Given the description of an element on the screen output the (x, y) to click on. 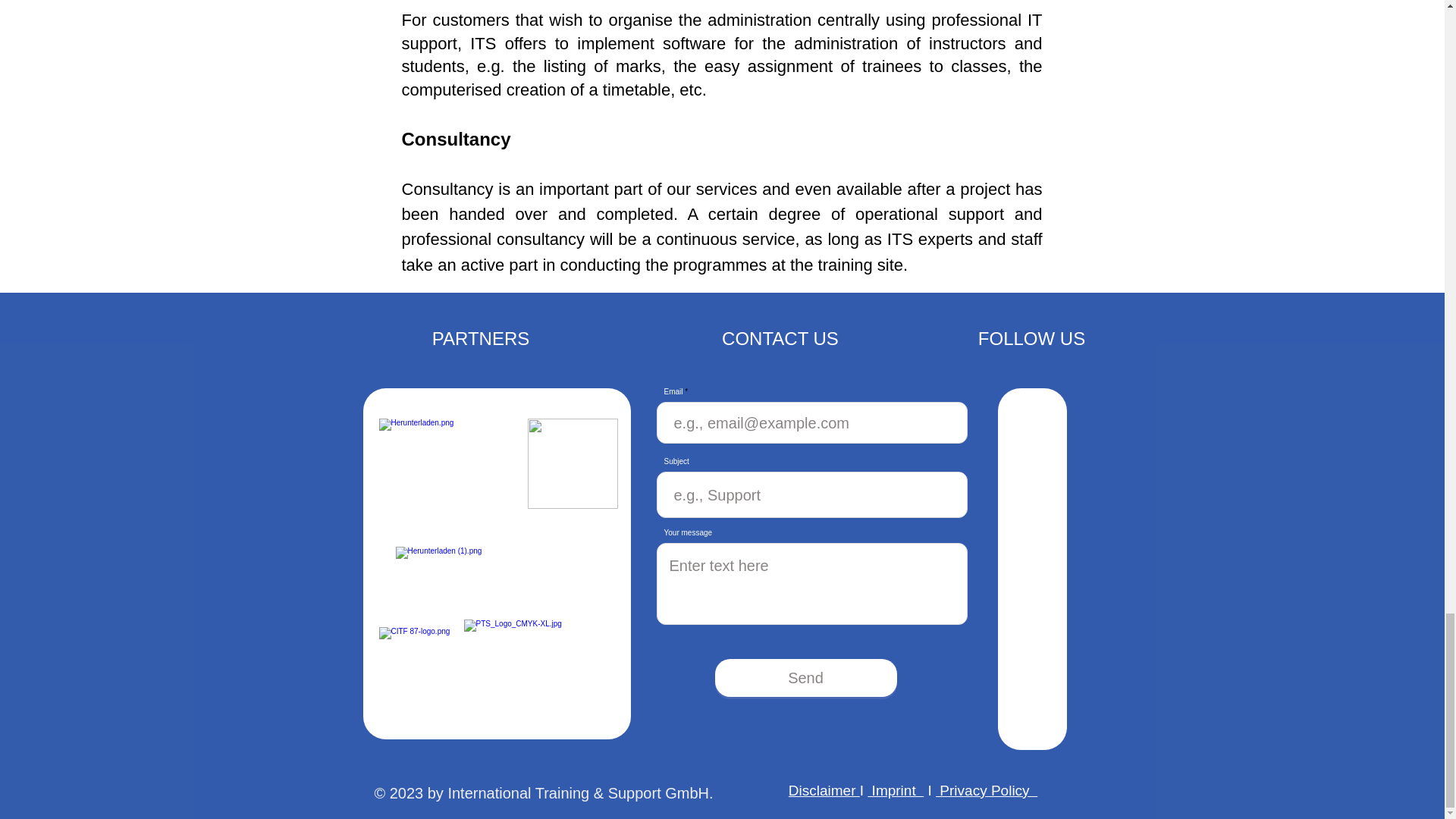
 Imprint  (895, 790)
Disclaimer  (824, 790)
Send (805, 677)
 Privacy Policy   (986, 790)
